Given the description of an element on the screen output the (x, y) to click on. 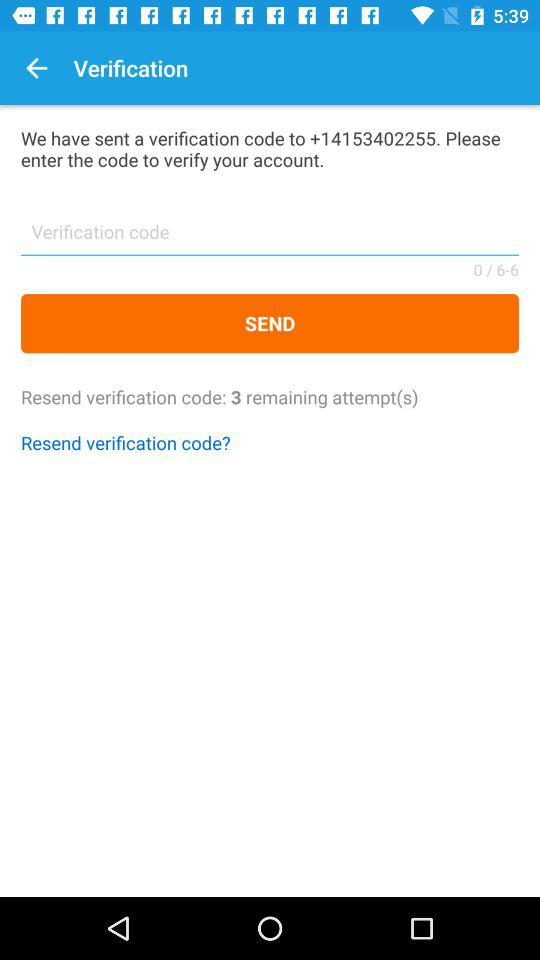
launch the icon above resend verification code (270, 323)
